Given the description of an element on the screen output the (x, y) to click on. 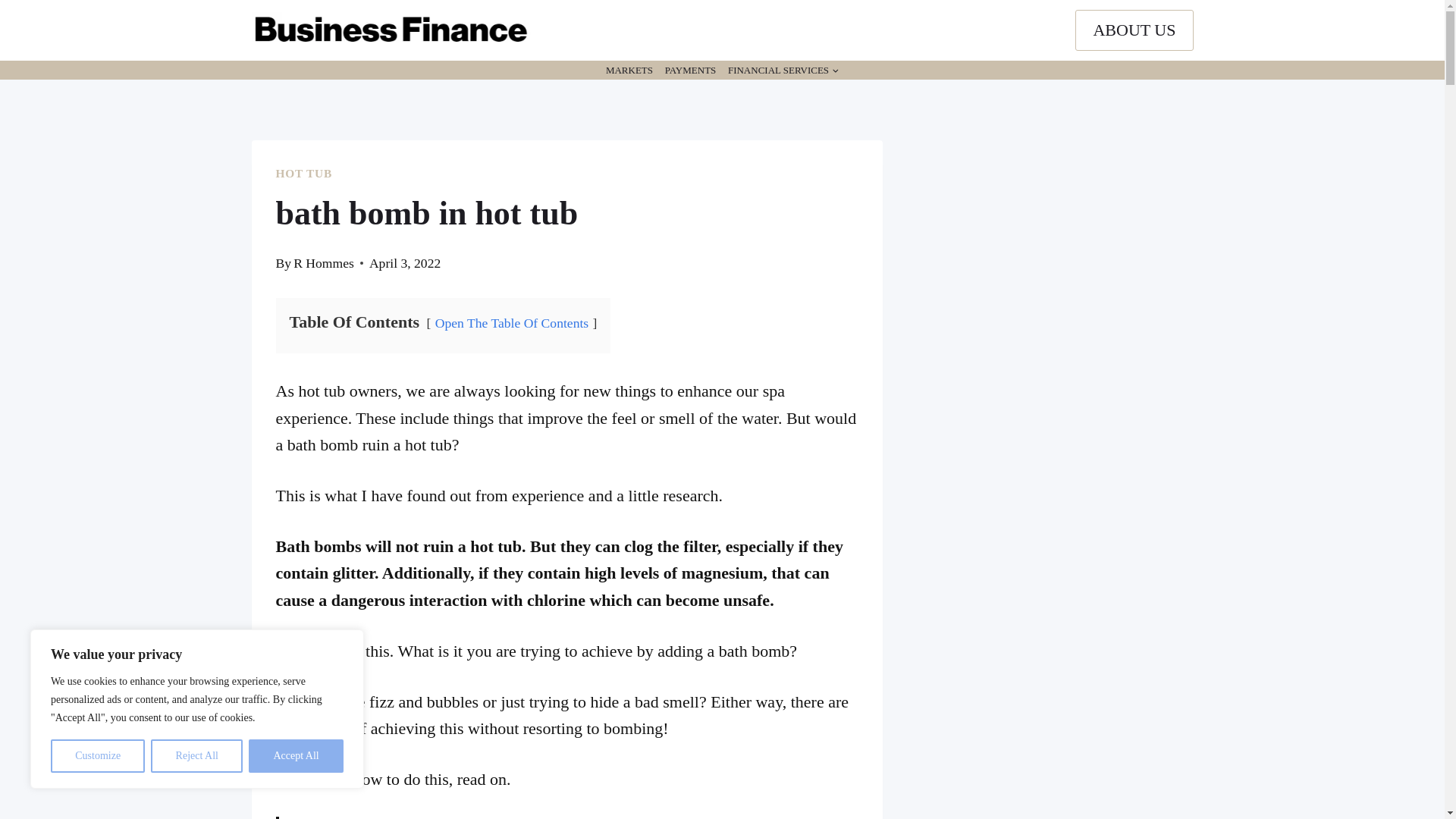
MARKETS (629, 69)
Reject All (197, 756)
Customize (97, 756)
FINANCIAL SERVICES (783, 69)
PAYMENTS (690, 69)
Accept All (295, 756)
R Hommes (323, 263)
HOT TUB (304, 173)
Open The Table Of Contents (511, 322)
ABOUT US (1133, 30)
